Given the description of an element on the screen output the (x, y) to click on. 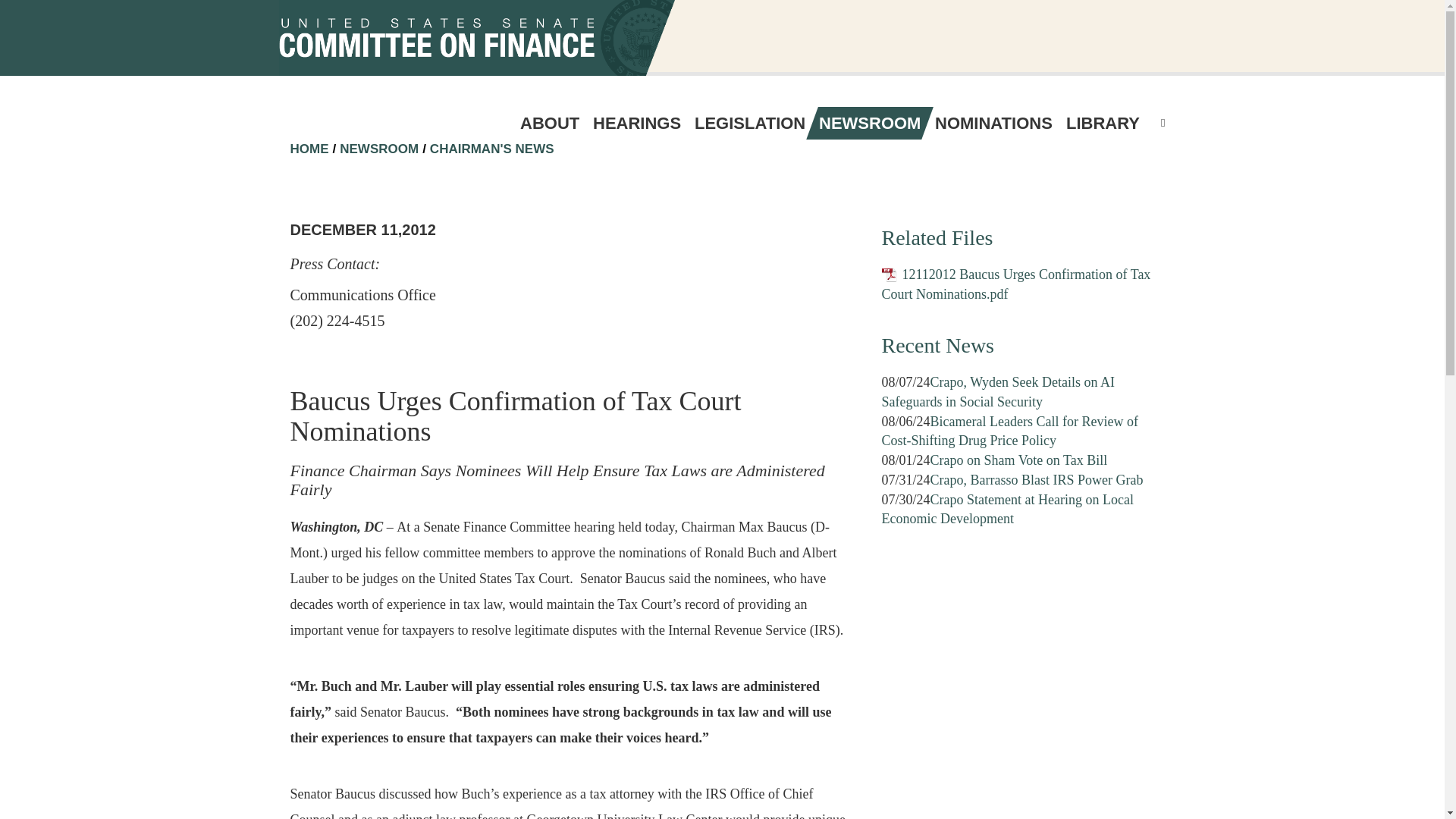
LEGISLATION (749, 123)
HEARINGS (636, 123)
NOMINATIONS (993, 123)
